Given the description of an element on the screen output the (x, y) to click on. 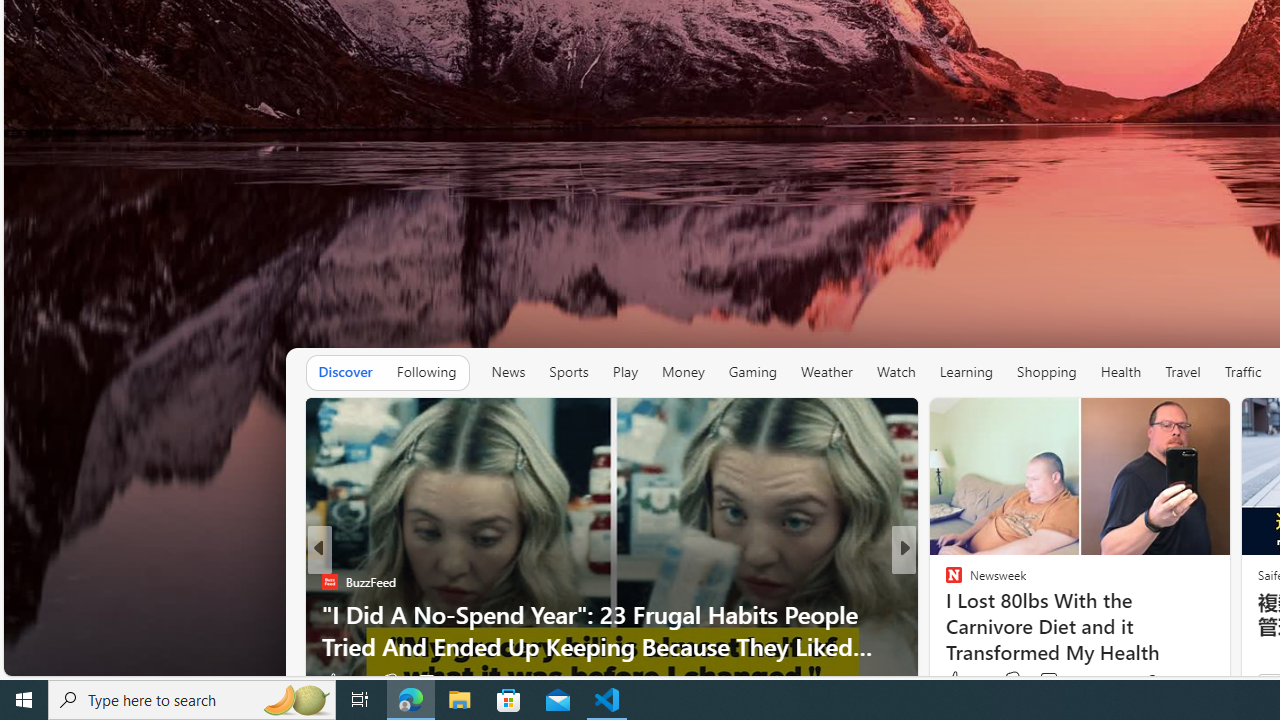
View comments 11 Comment (1051, 681)
21 Like (956, 681)
View comments 13 Comment (1051, 681)
View comments 18 Comment (420, 681)
